Given the description of an element on the screen output the (x, y) to click on. 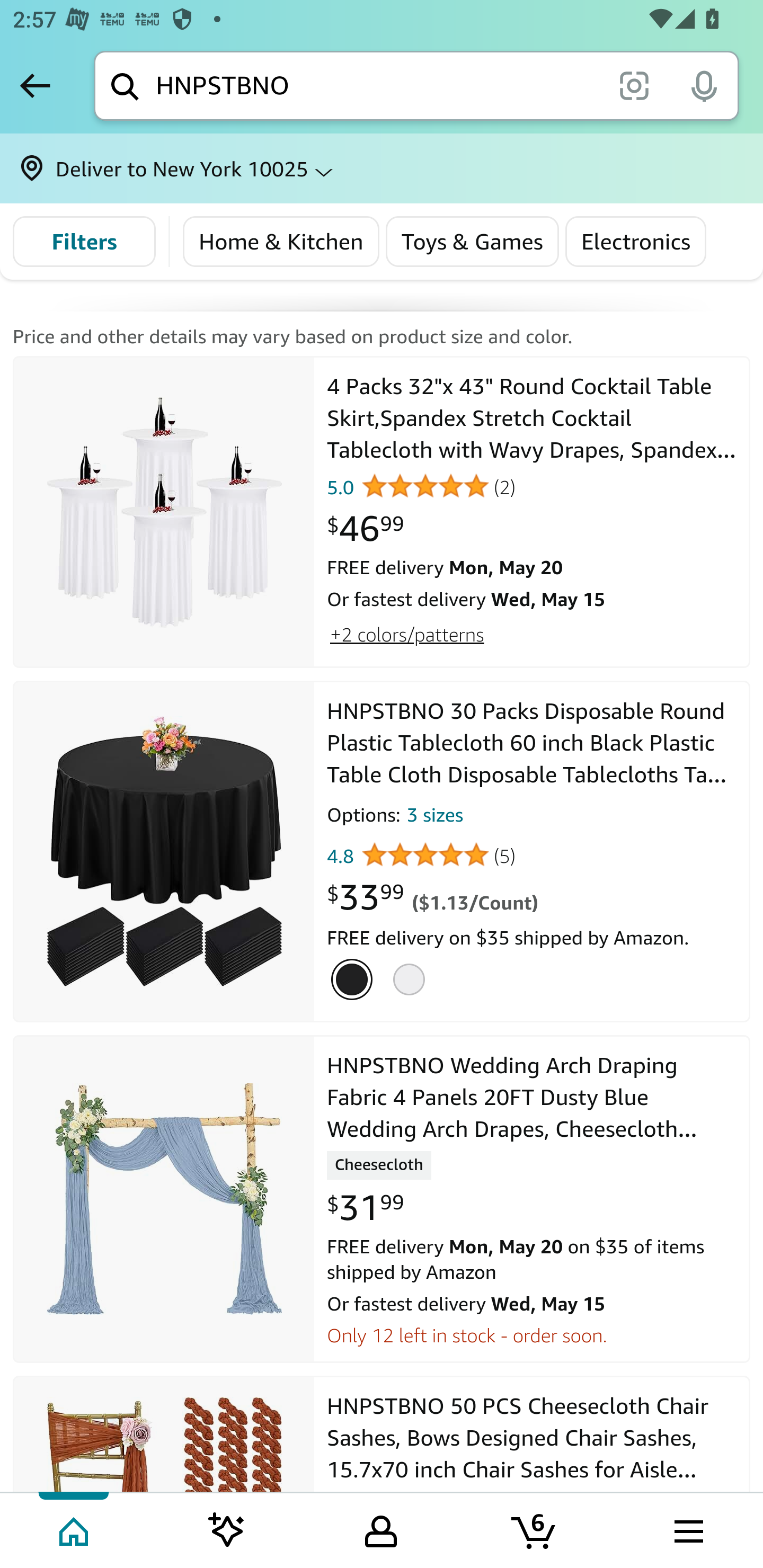
Back (35, 85)
scan it (633, 85)
Deliver to New York 10025 ⌵ (381, 168)
Filters (83, 241)
Home & Kitchen (281, 241)
Toys & Games (471, 241)
Electronics (635, 241)
+2 colors/patterns (406, 634)
3 sizes (434, 818)
Black (354, 979)
White (412, 979)
Home Tab 1 of 5 (75, 1529)
Inspire feed Tab 2 of 5 (227, 1529)
Your Amazon.com Tab 3 of 5 (380, 1529)
Cart 6 items Tab 4 of 5 6 (534, 1529)
Browse menu Tab 5 of 5 (687, 1529)
